Given the description of an element on the screen output the (x, y) to click on. 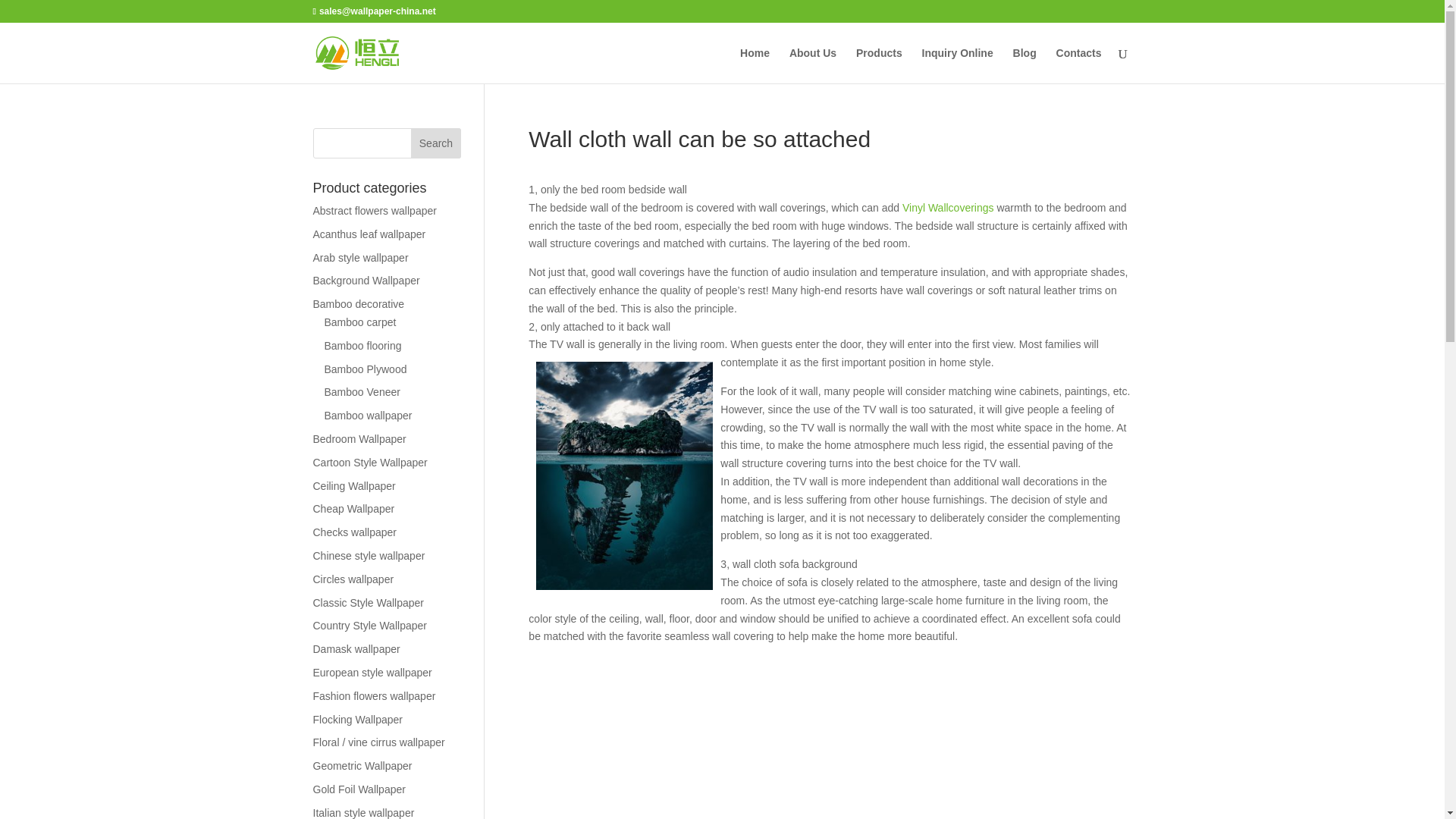
Inquiry Online (956, 65)
Bamboo decorative (358, 304)
Background Wallpaper (366, 280)
Cheap Wallpaper (353, 508)
Geometric Wallpaper (362, 766)
Bamboo carpet (360, 322)
Checks wallpaper (354, 532)
Products (879, 65)
Ceiling Wallpaper (353, 485)
Fashion flowers wallpaper (374, 695)
